Given the description of an element on the screen output the (x, y) to click on. 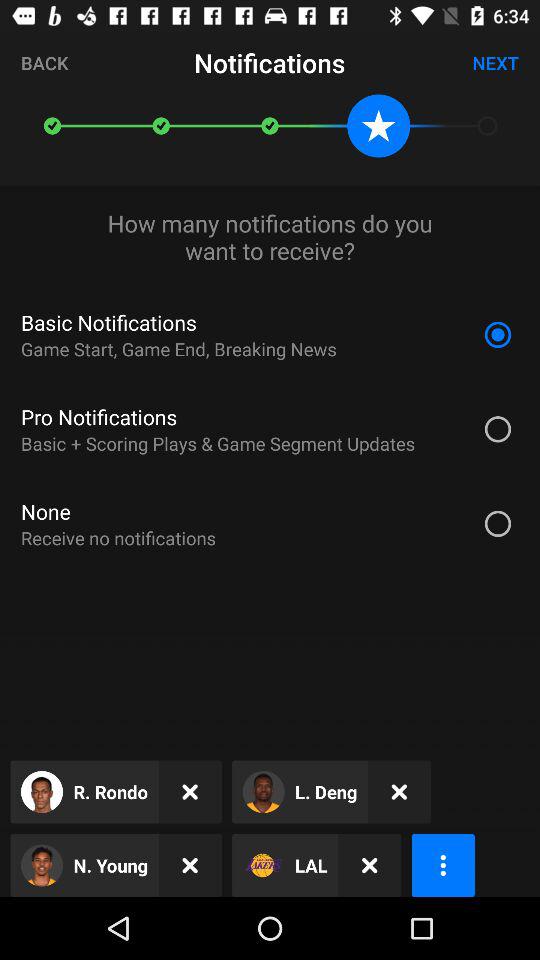
click the icon next to notifications icon (495, 62)
